Given the description of an element on the screen output the (x, y) to click on. 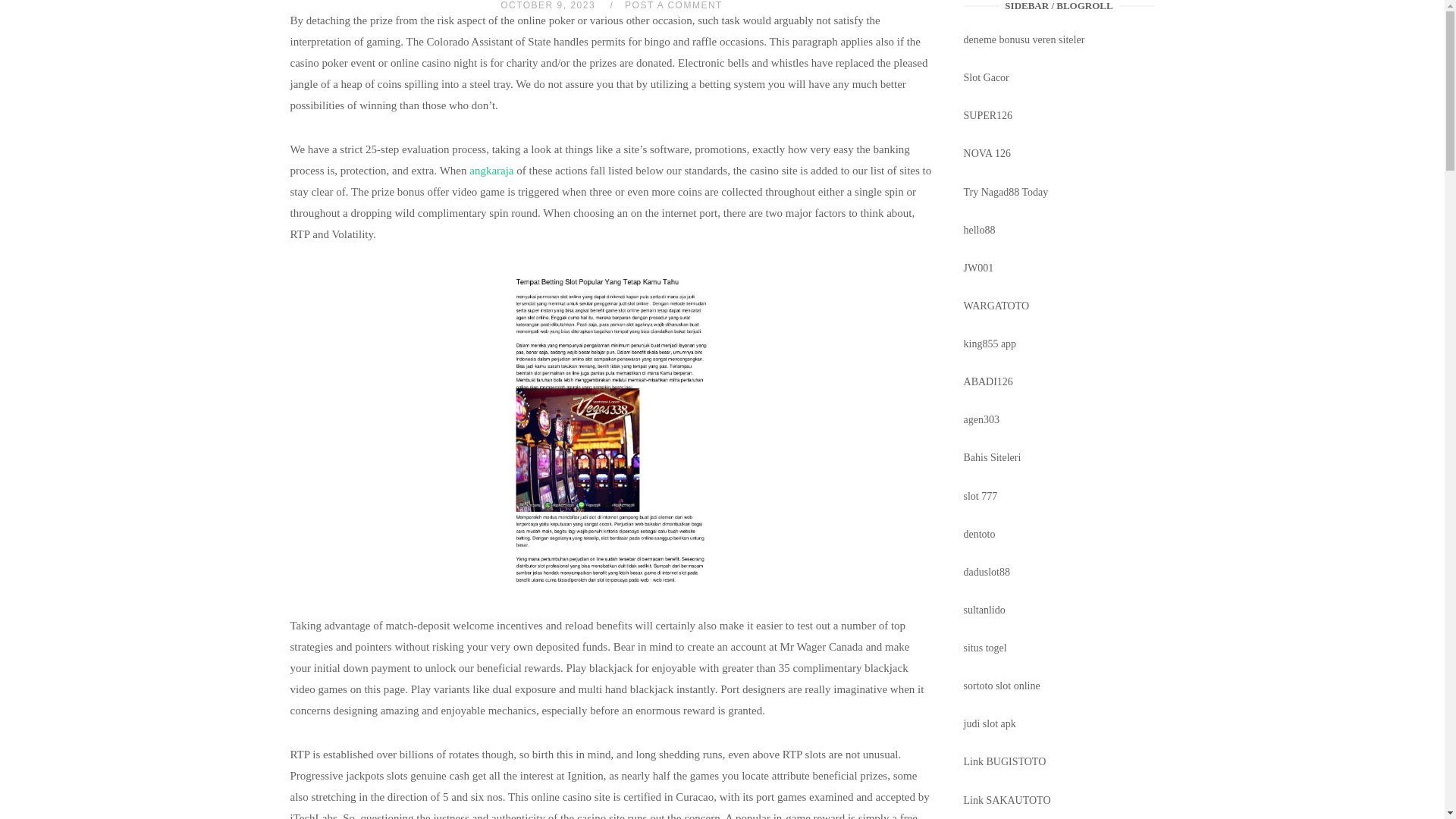
Link SAKAUTOTO (1007, 799)
sultanlido (984, 609)
situs togel (985, 647)
Try Nagad88 Today (1005, 192)
WARGATOTO (996, 306)
hello88 (979, 229)
sortoto slot online (1002, 685)
NOVA 126 (986, 153)
dentoto (979, 533)
angkaraja (490, 170)
Bahis Siteleri (992, 457)
ABADI126 (988, 381)
Link BUGISTOTO (1004, 761)
deneme bonusu veren siteler (1023, 39)
POST A COMMENT (673, 5)
